Given the description of an element on the screen output the (x, y) to click on. 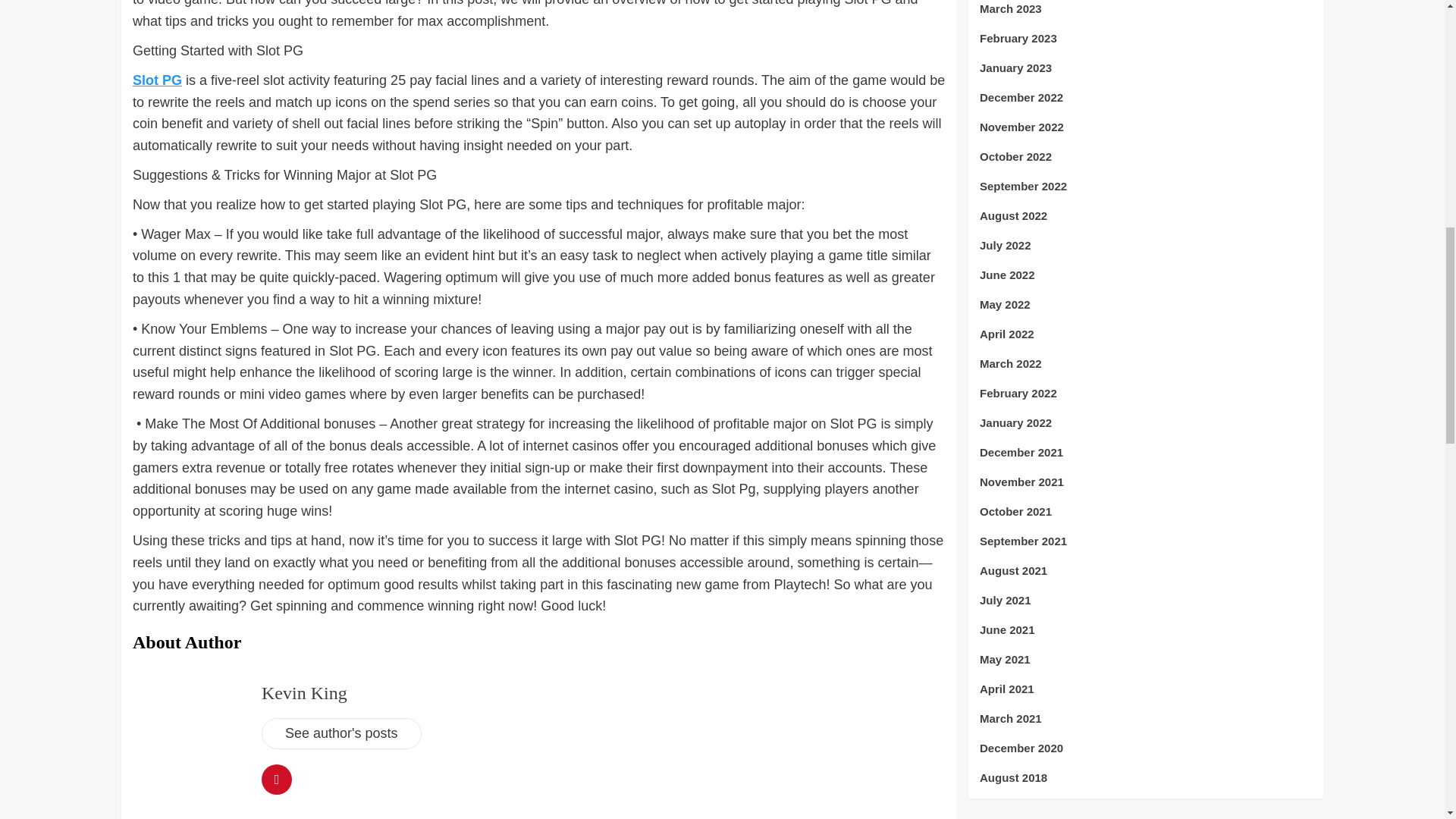
Kevin King (304, 691)
Slot PG (157, 79)
See author's posts (342, 733)
